Given the description of an element on the screen output the (x, y) to click on. 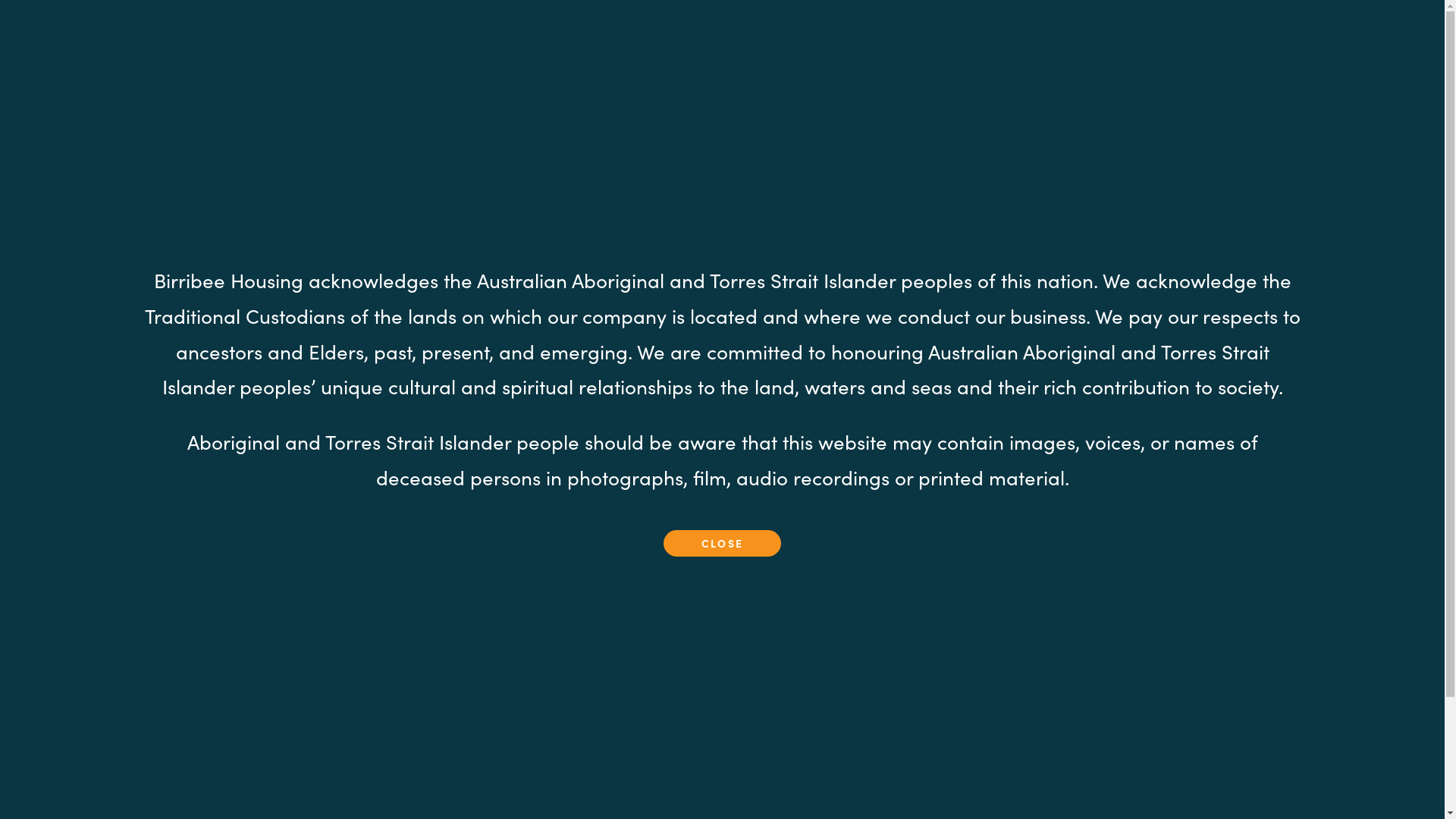
Back to Top Element type: hover (1423, 797)
CLOSE Element type: text (721, 543)
office@birribee.org.au Element type: text (932, 779)
+61 2 7252 9516 Element type: text (916, 793)
